Given the description of an element on the screen output the (x, y) to click on. 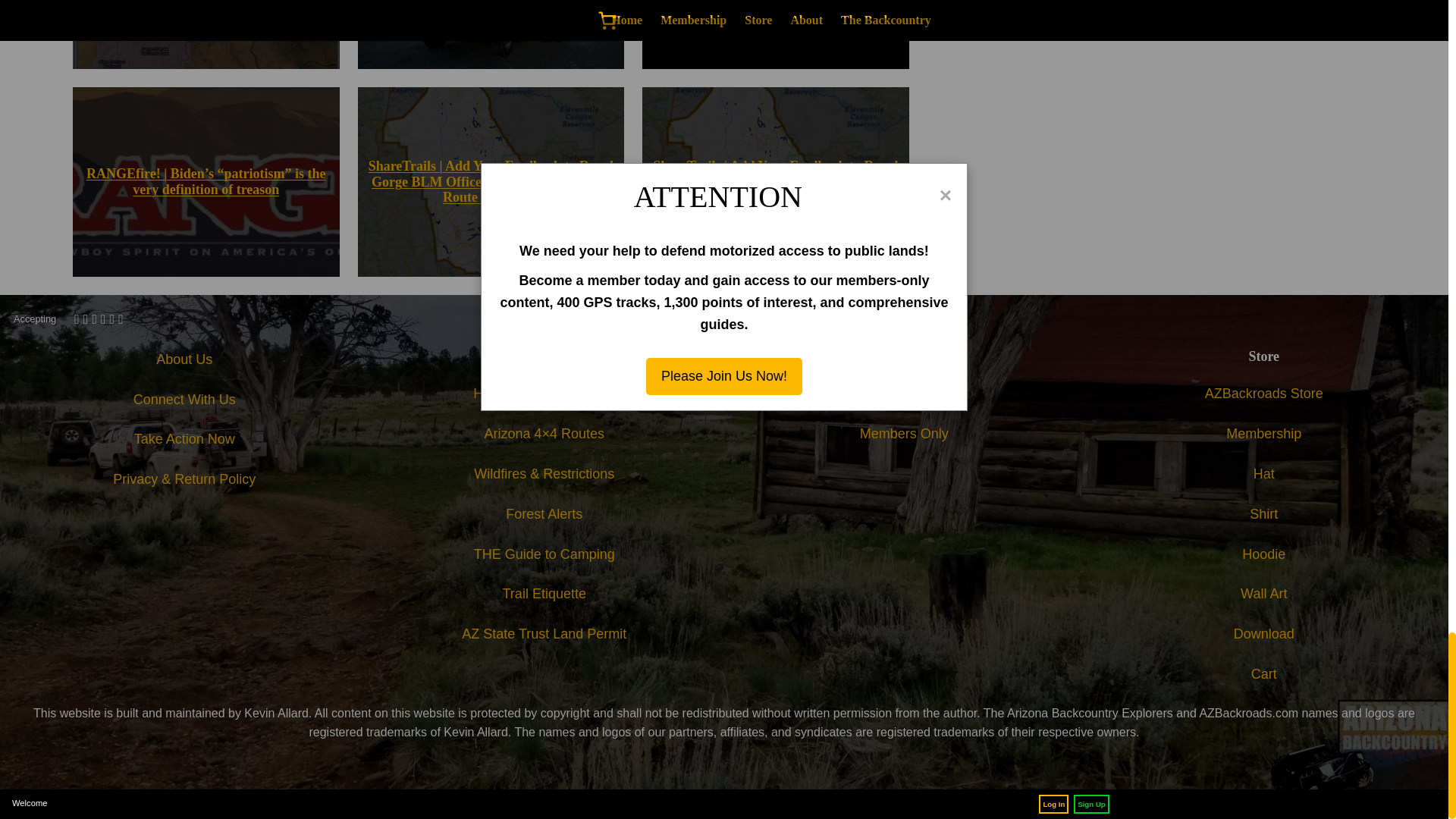
Connect With Us (184, 400)
Take Action Now (183, 439)
About Us (183, 359)
